Given the description of an element on the screen output the (x, y) to click on. 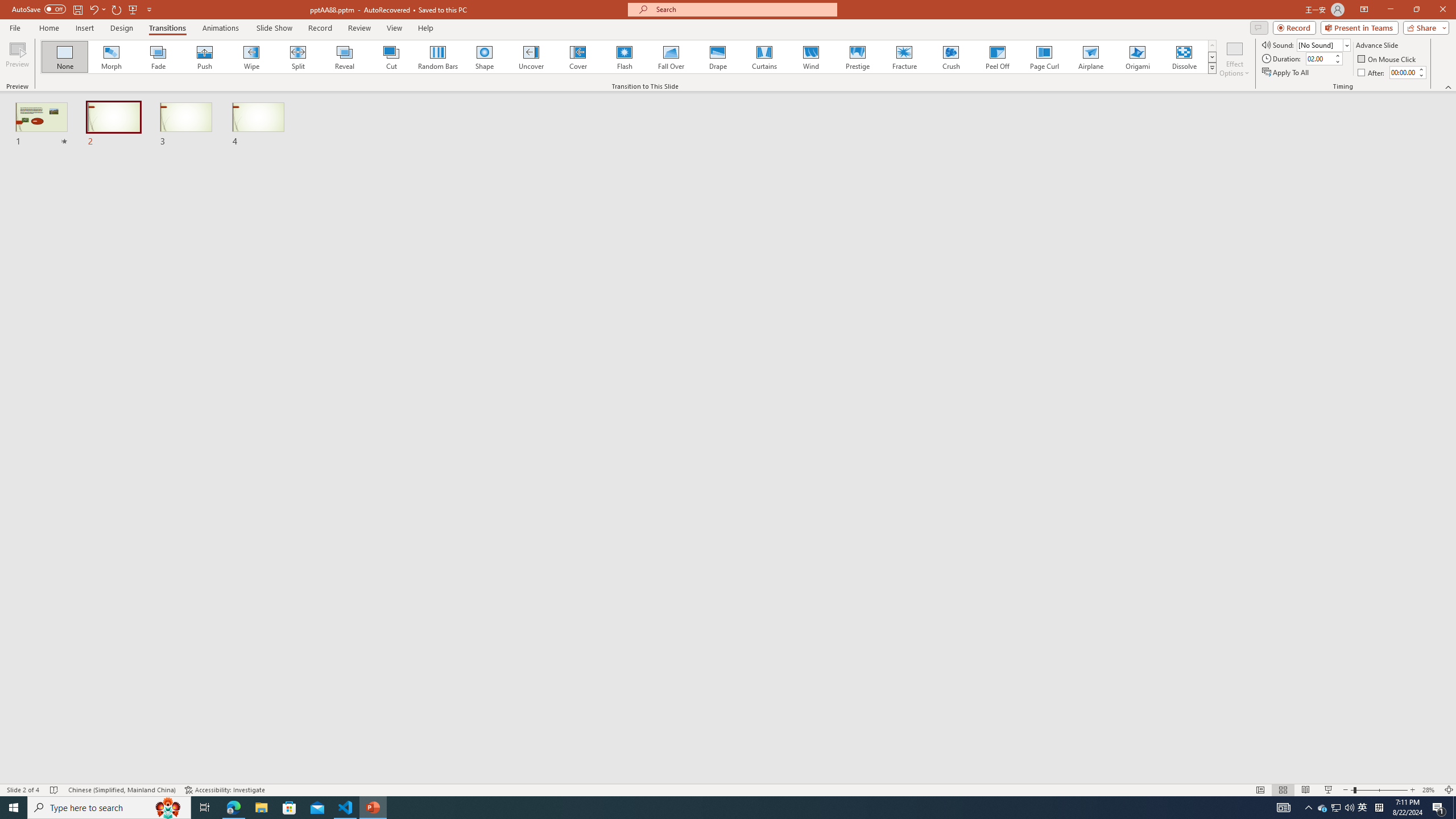
Shape (484, 56)
After (1403, 72)
After (1372, 72)
Reveal (344, 56)
